Given the description of an element on the screen output the (x, y) to click on. 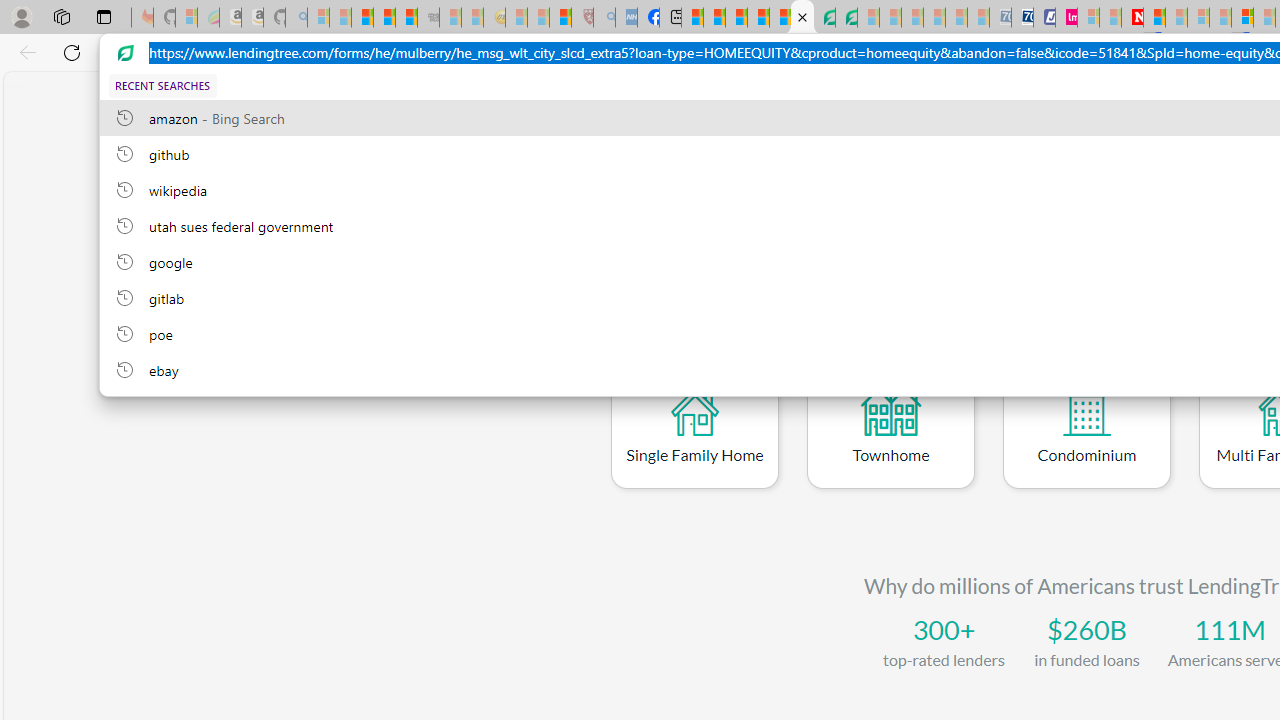
Pets - MSN (758, 17)
The Weather Channel - MSN (362, 17)
